Given the description of an element on the screen output the (x, y) to click on. 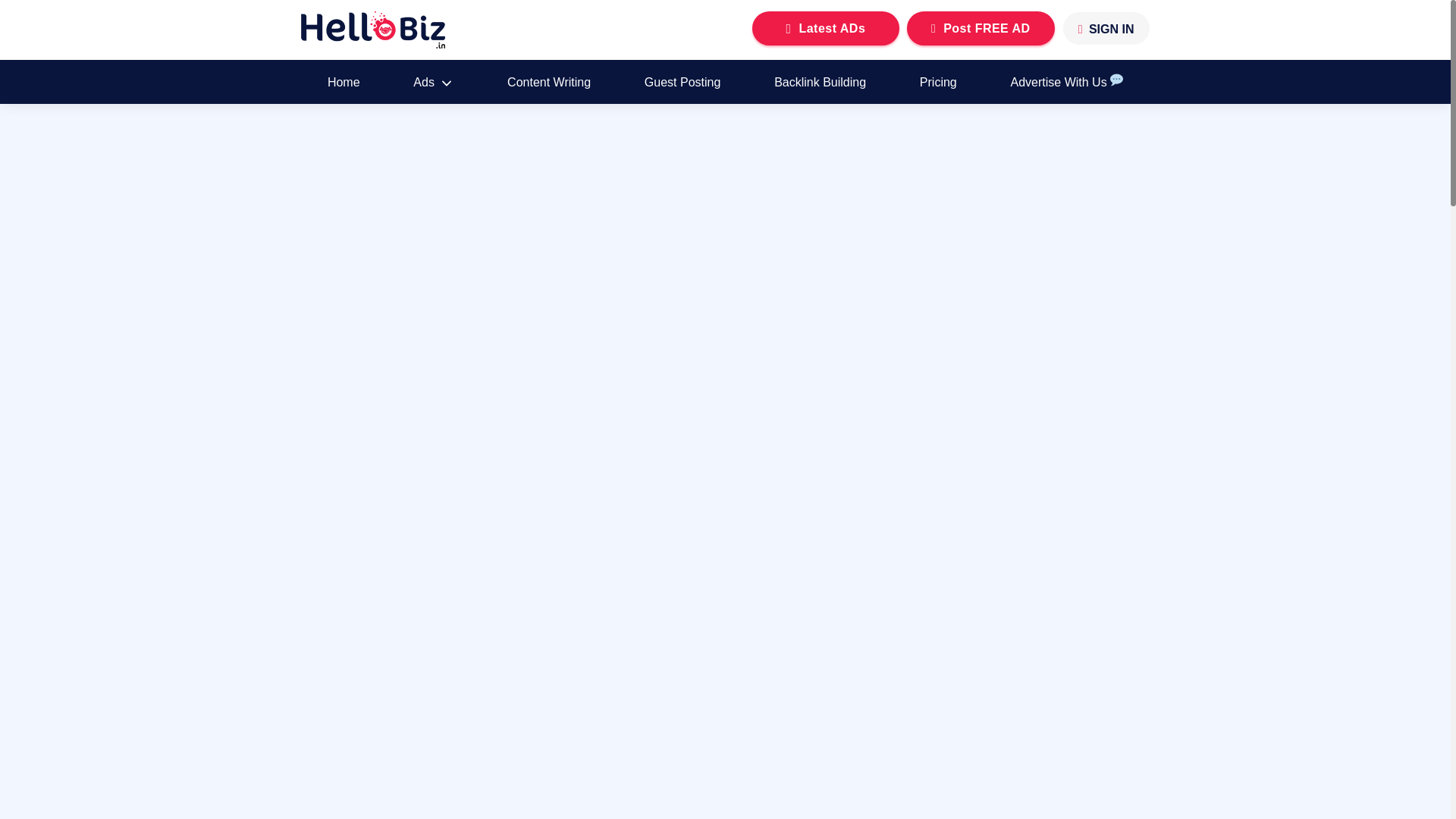
SIGN IN (1106, 28)
Post FREE AD (980, 28)
Ads (433, 81)
Home (342, 81)
Latest ADs (825, 28)
